Given the description of an element on the screen output the (x, y) to click on. 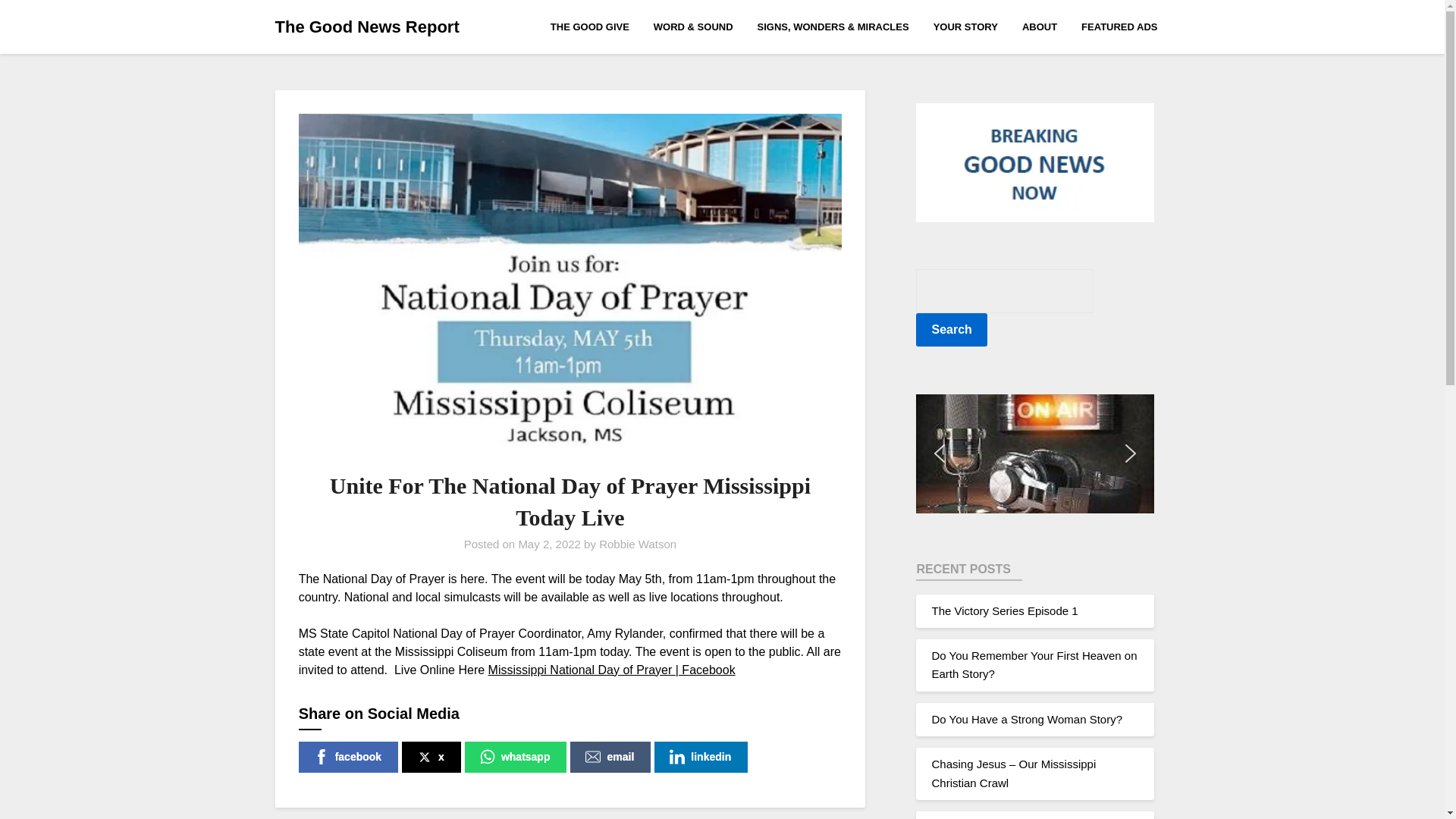
Robbie Watson (637, 543)
THE GOOD GIVE (596, 26)
Search (951, 329)
linkedin (700, 757)
The Good News Report (366, 26)
email (610, 757)
x (431, 757)
YOUR STORY (965, 26)
Do You Remember Your First Heaven on Earth Story? (1034, 664)
whatsapp (515, 757)
FEATURED ADS (1118, 26)
May 2, 2022 (549, 543)
facebook (347, 757)
Do You Have a Strong Woman Story? (1026, 718)
ABOUT (1039, 26)
